Given the description of an element on the screen output the (x, y) to click on. 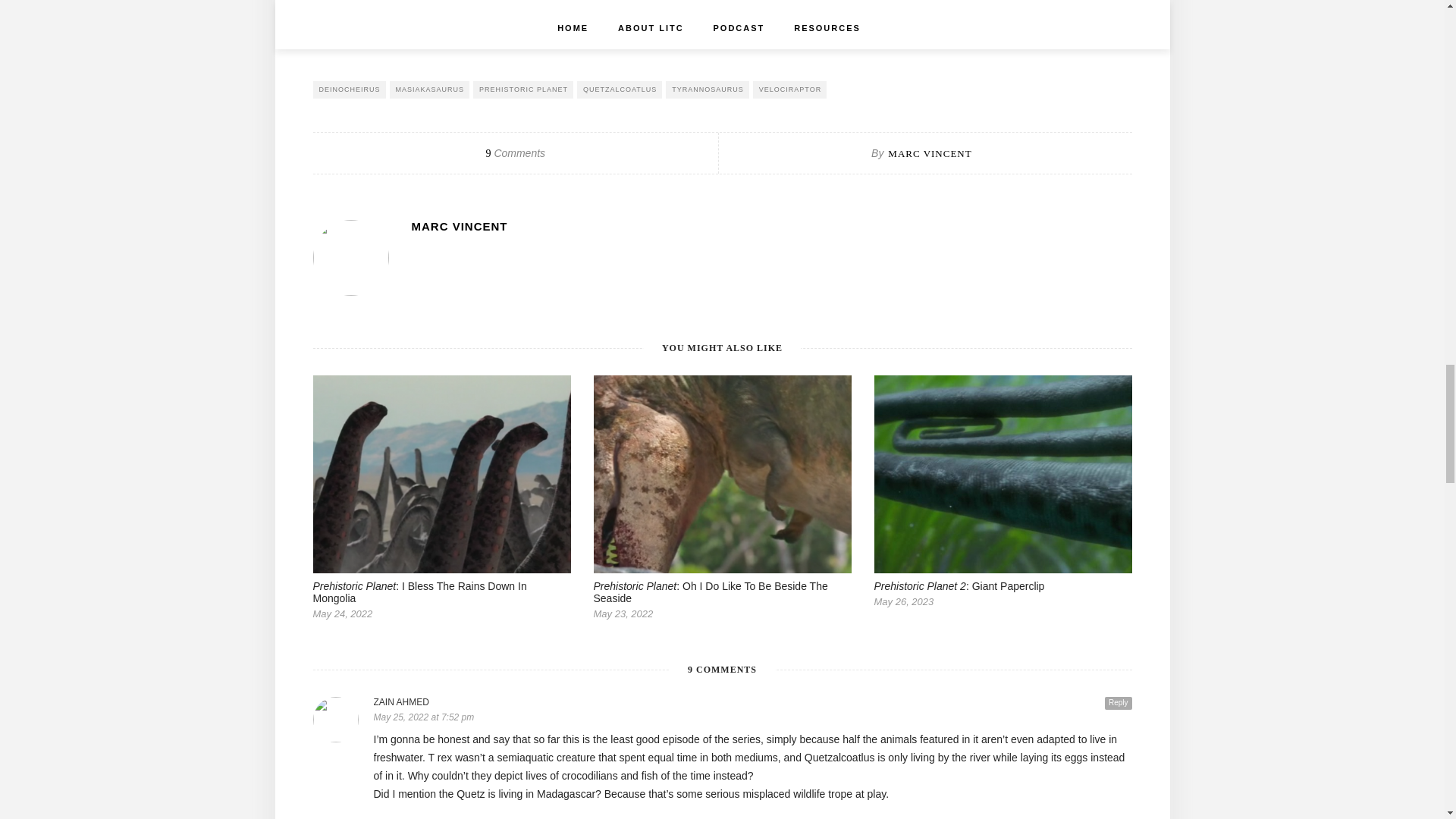
MARC VINCENT (770, 226)
ZAIN AHMED (751, 701)
VELOCIRAPTOR (789, 89)
Posts by Marc Vincent (770, 226)
Prehistoric Planet: Oh I Do Like To Be Beside The Seaside (709, 591)
Prehistoric Planet 2: Snack Babies (992, 2)
Prehistoric Planet 2: Giant Paperclip (958, 585)
Prehistoric Planet: I Bless The Rains Down In Mongolia (419, 591)
Prehistoric Planet 2: Snack Babies (944, 13)
Posts by Marc Vincent (929, 153)
QUETZALCOATLUS (619, 89)
9 Comments (514, 152)
Prehistoric Planet: I Bless The Rains Down In Mongolia (442, 13)
PREHISTORIC PLANET (523, 89)
TYRANNOSAURUS (707, 89)
